Given the description of an element on the screen output the (x, y) to click on. 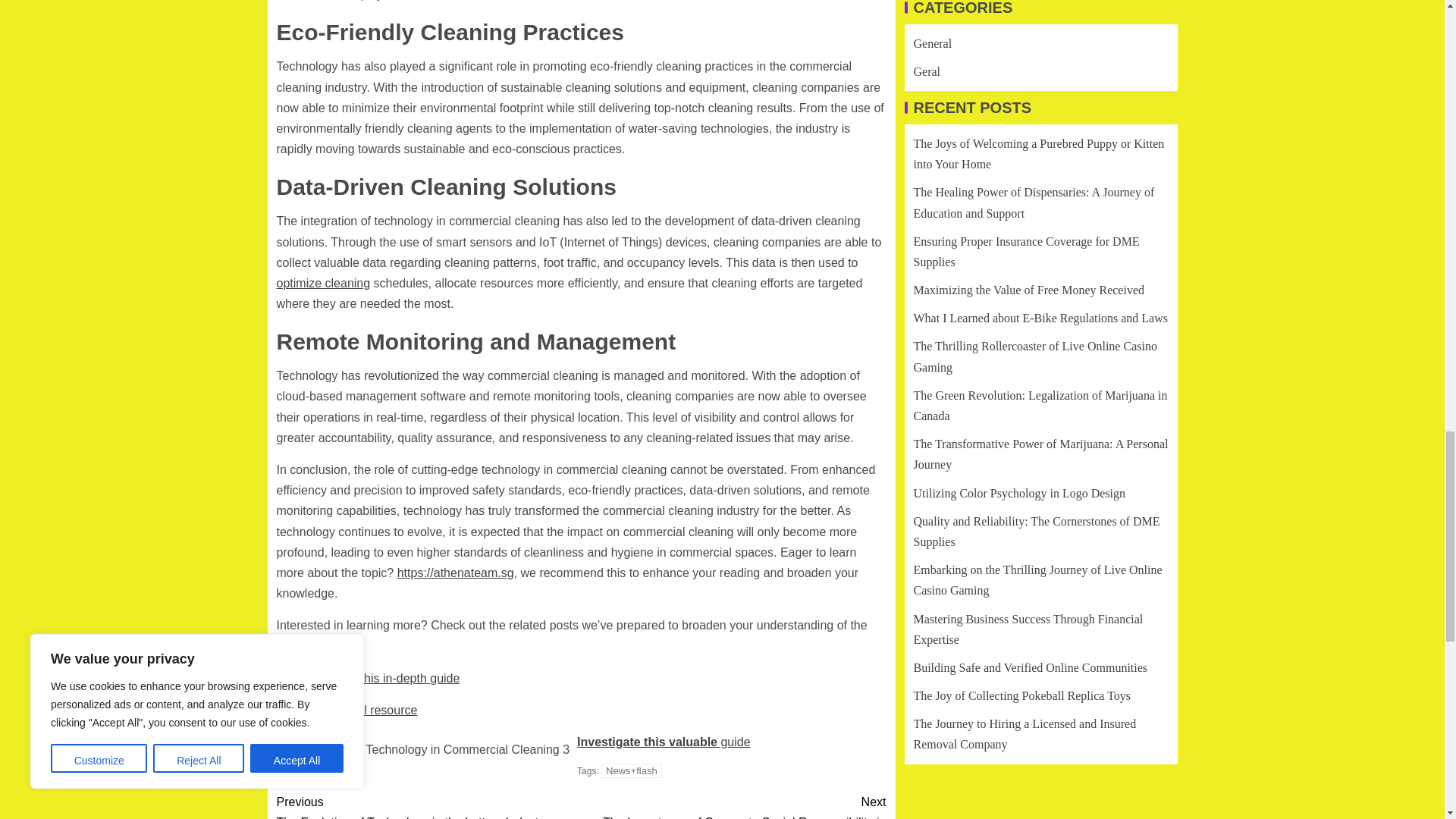
Click to access this in-depth guide (368, 677)
Investigate this valuable guide (663, 741)
Read this helpful resource (428, 805)
optimize cleaning (346, 709)
